Given the description of an element on the screen output the (x, y) to click on. 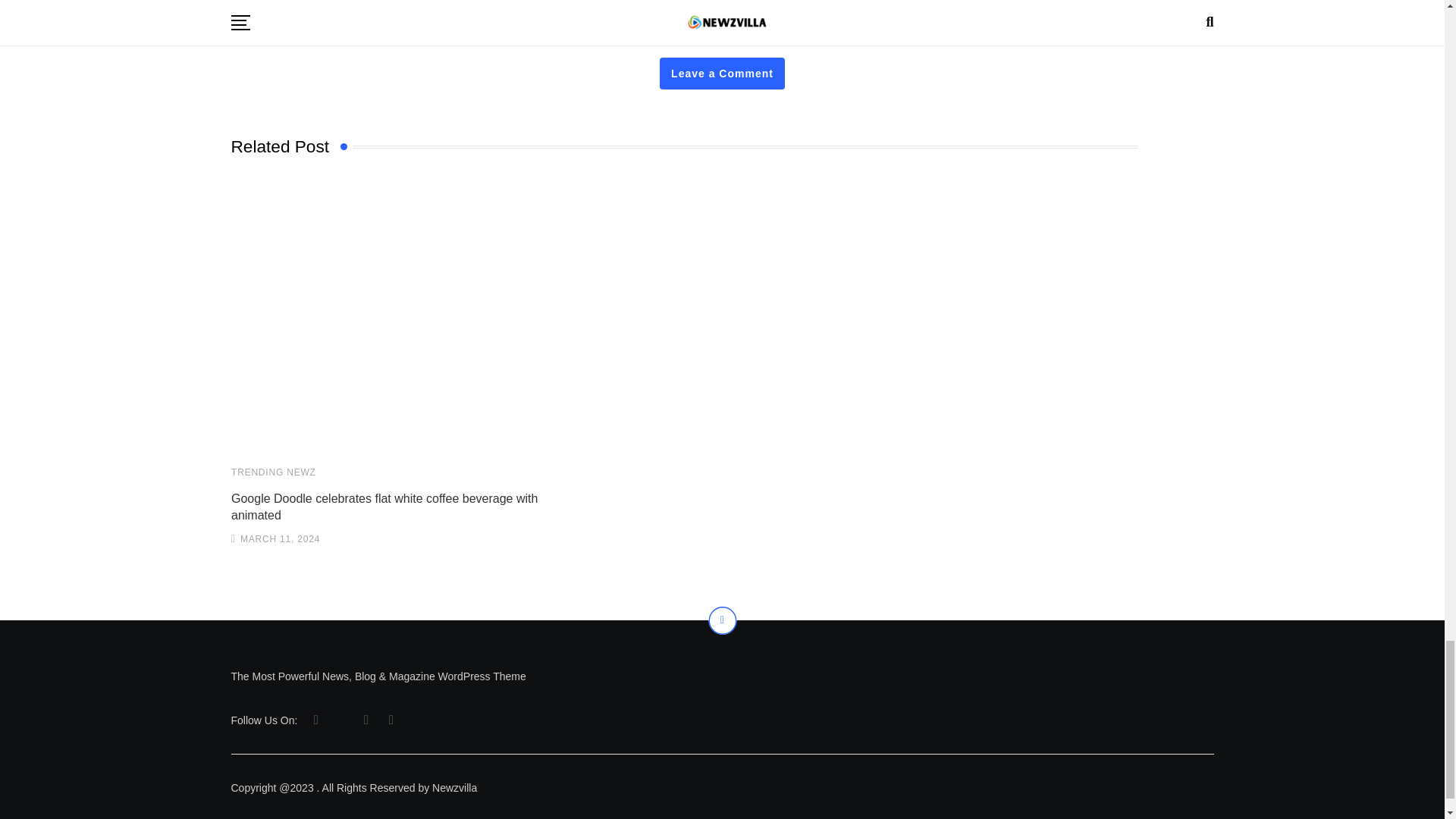
Leave a Comment (721, 73)
TRENDING NEWZ (272, 472)
Newzvilla (387, 315)
